Given the description of an element on the screen output the (x, y) to click on. 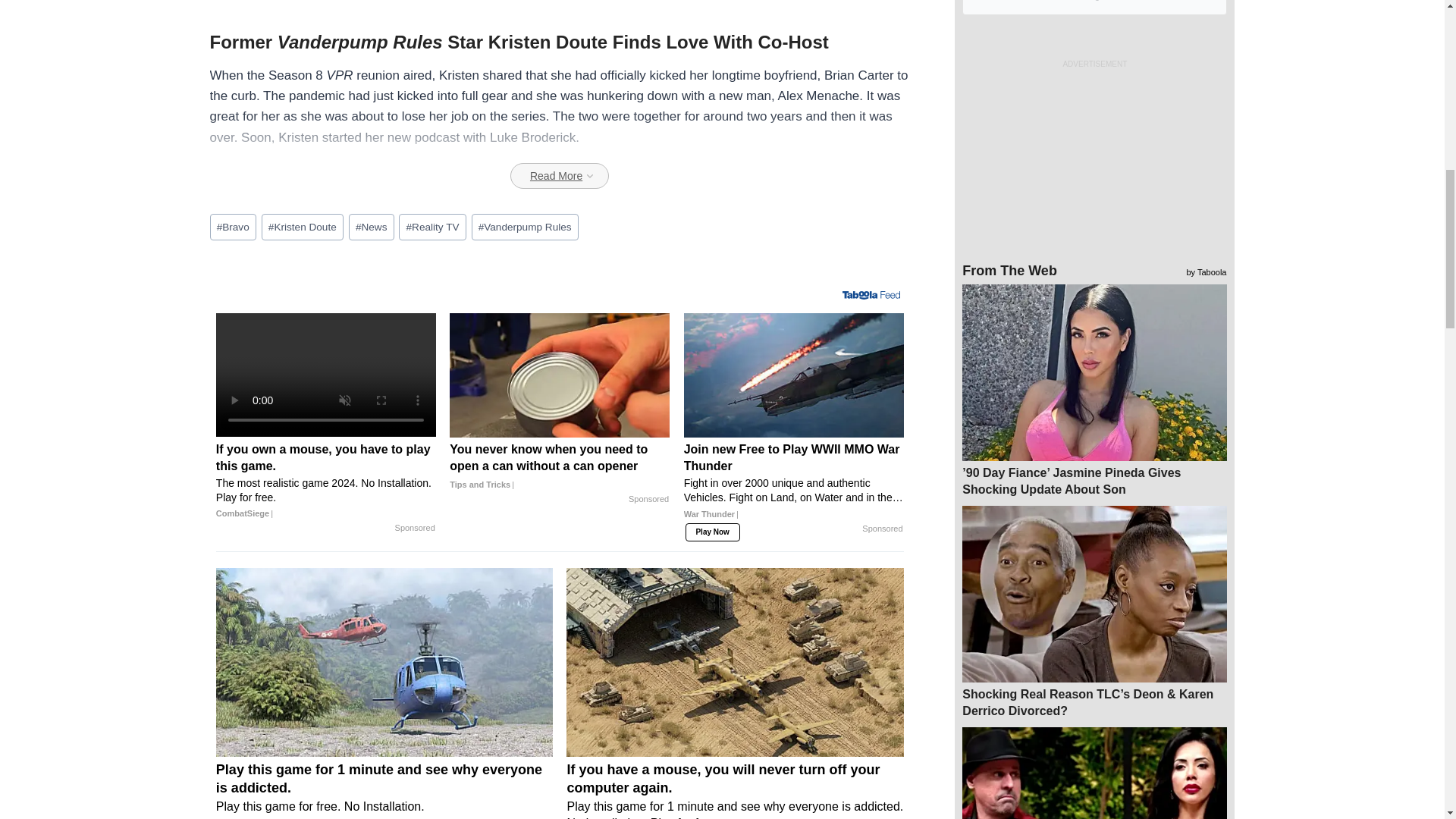
Read More (559, 175)
News (371, 226)
Vanderpump Rules (524, 226)
Reality TV (431, 226)
Bravo (232, 226)
Join new Free to Play WWII MMO War Thunder (794, 487)
Kristen Doute (302, 226)
If you own a mouse, you have to play this game. (325, 481)
